Given the description of an element on the screen output the (x, y) to click on. 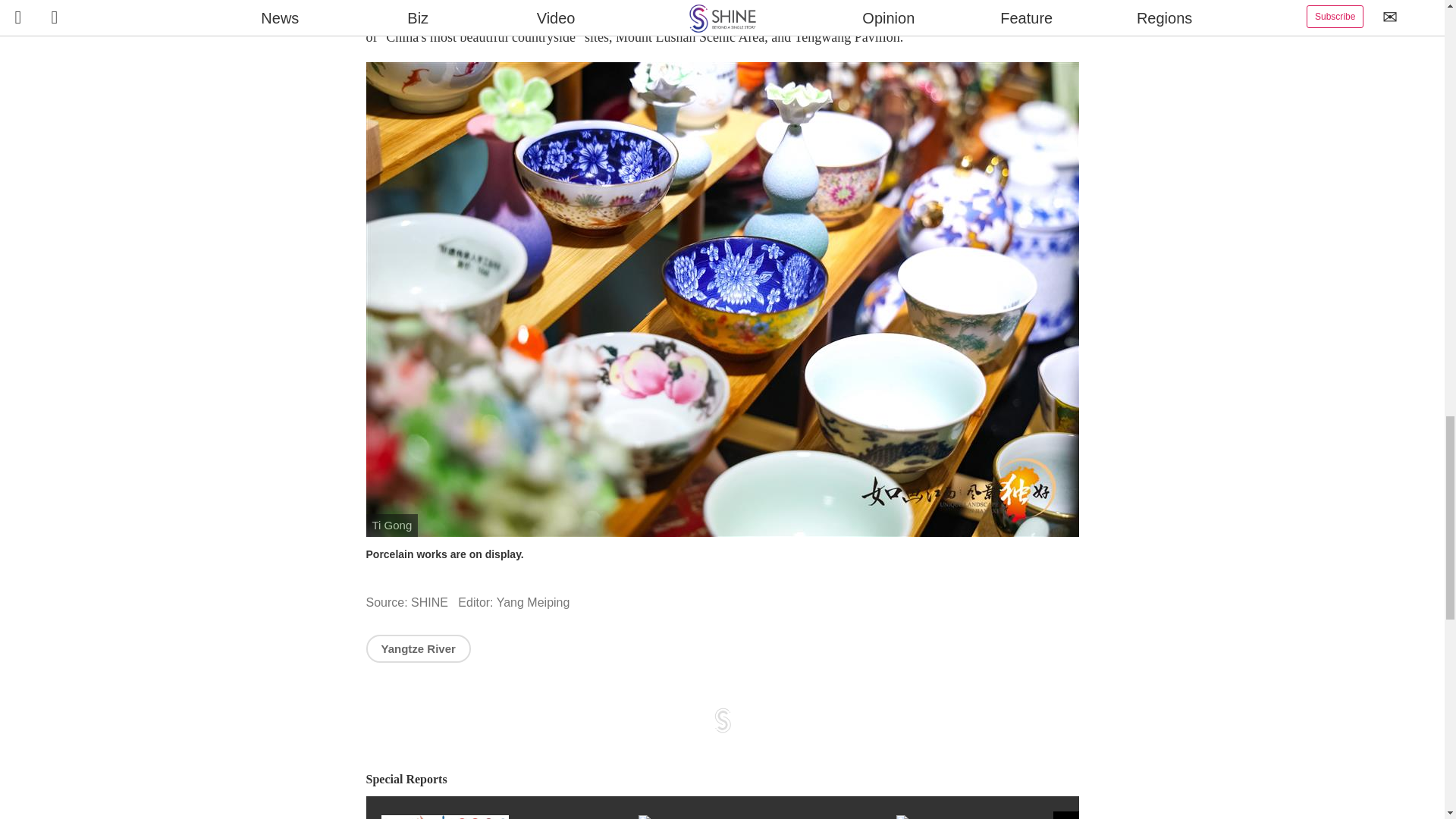
People (1024, 816)
Paris 2024 Olympics (508, 816)
Local Lingo (767, 816)
Yangtze River (417, 648)
Special Reports (721, 779)
